Given the description of an element on the screen output the (x, y) to click on. 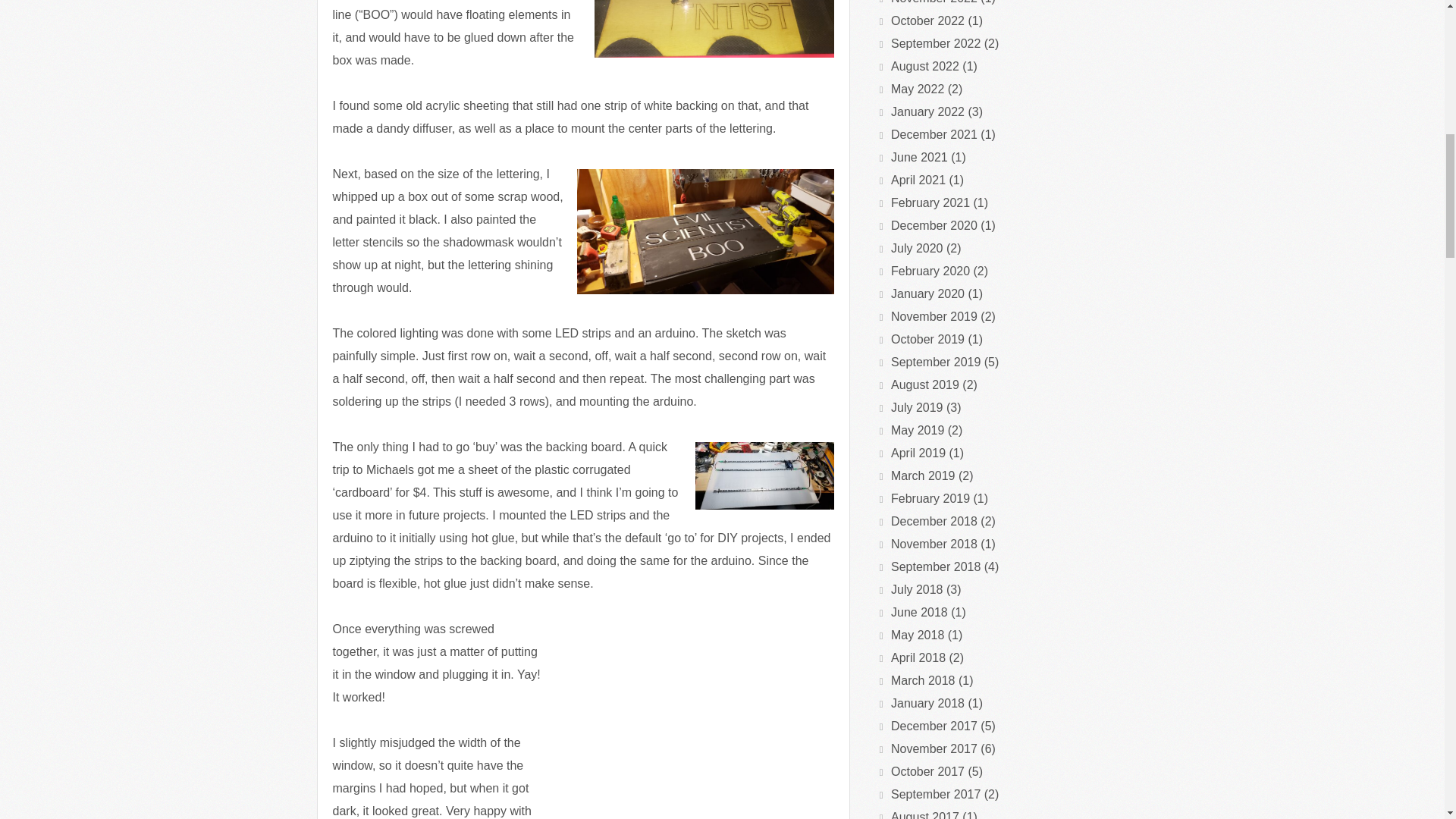
Halloween Evil Scientist LED Sign (697, 724)
